Given the description of an element on the screen output the (x, y) to click on. 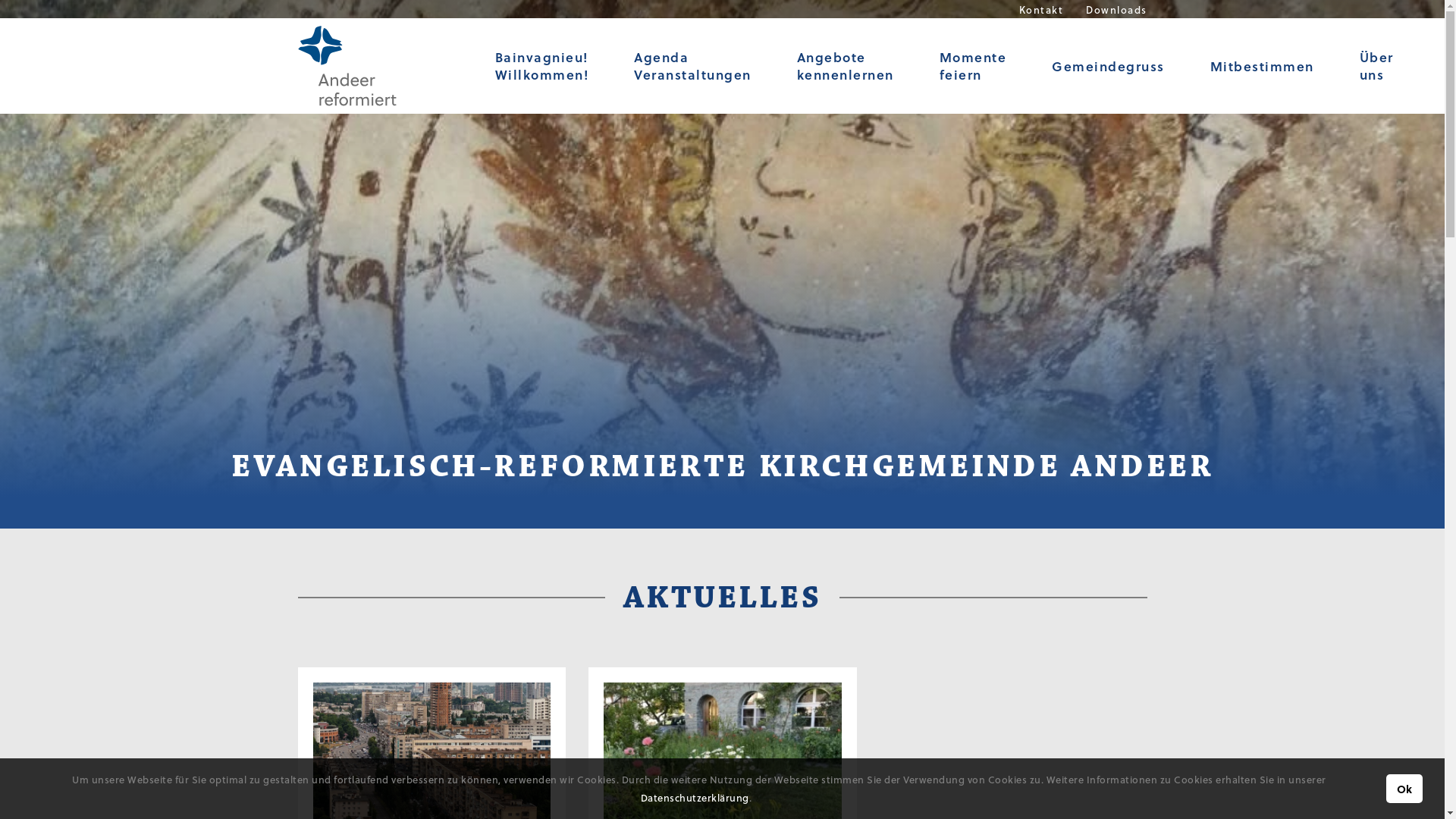
Agenda Veranstaltungen Element type: text (692, 65)
Ok Element type: text (1404, 788)
Gemeindegruss Element type: text (1108, 65)
Momente feiern Element type: text (972, 65)
Kontakt Element type: text (1041, 9)
Bainvagnieu! Willkommen! Element type: text (541, 65)
Downloads Element type: text (1116, 9)
Mitbestimmen Element type: text (1261, 65)
Angebote kennenlernen Element type: text (844, 65)
